Given the description of an element on the screen output the (x, y) to click on. 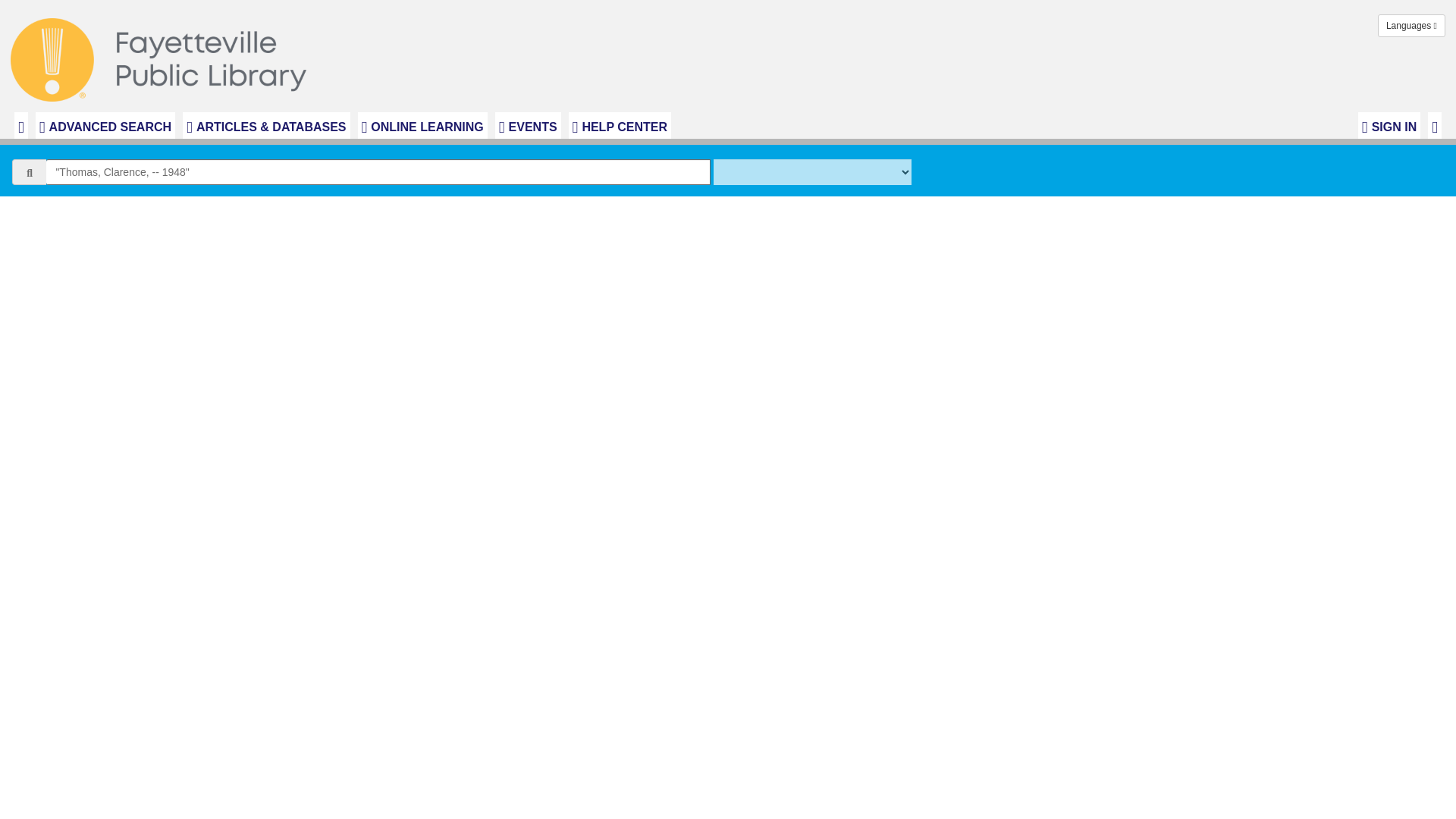
SIGN IN (1389, 125)
ONLINE LEARNING (422, 125)
The method of searching. (812, 171)
Login (1389, 125)
Languages  (1411, 25)
EVENTS (527, 125)
Library Home Page (162, 55)
ADVANCED SEARCH (104, 125)
HELP CENTER (620, 125)
